Given the description of an element on the screen output the (x, y) to click on. 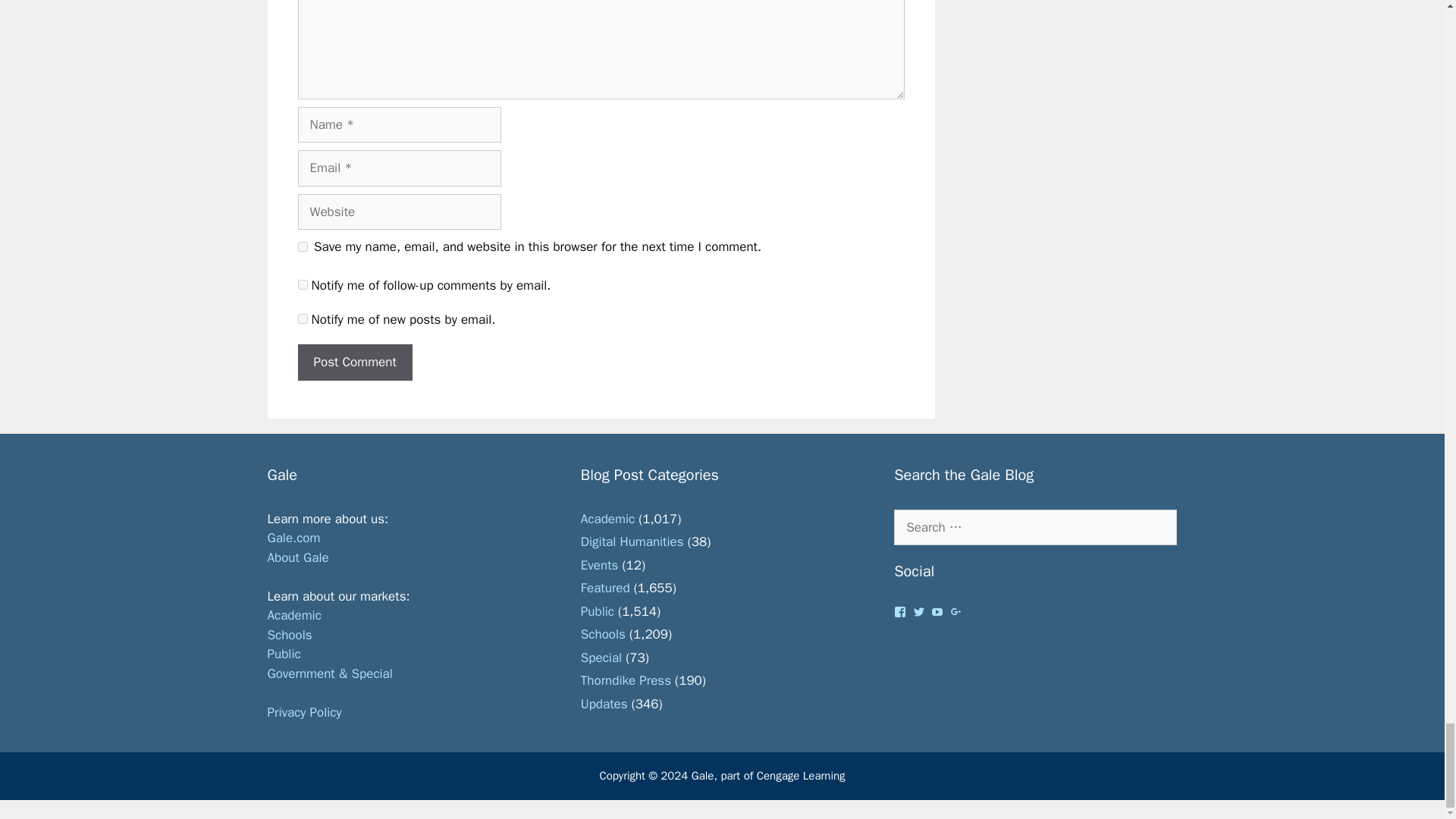
subscribe (302, 318)
Search for: (1034, 527)
Post Comment (354, 361)
yes (302, 246)
subscribe (302, 284)
